Given the description of an element on the screen output the (x, y) to click on. 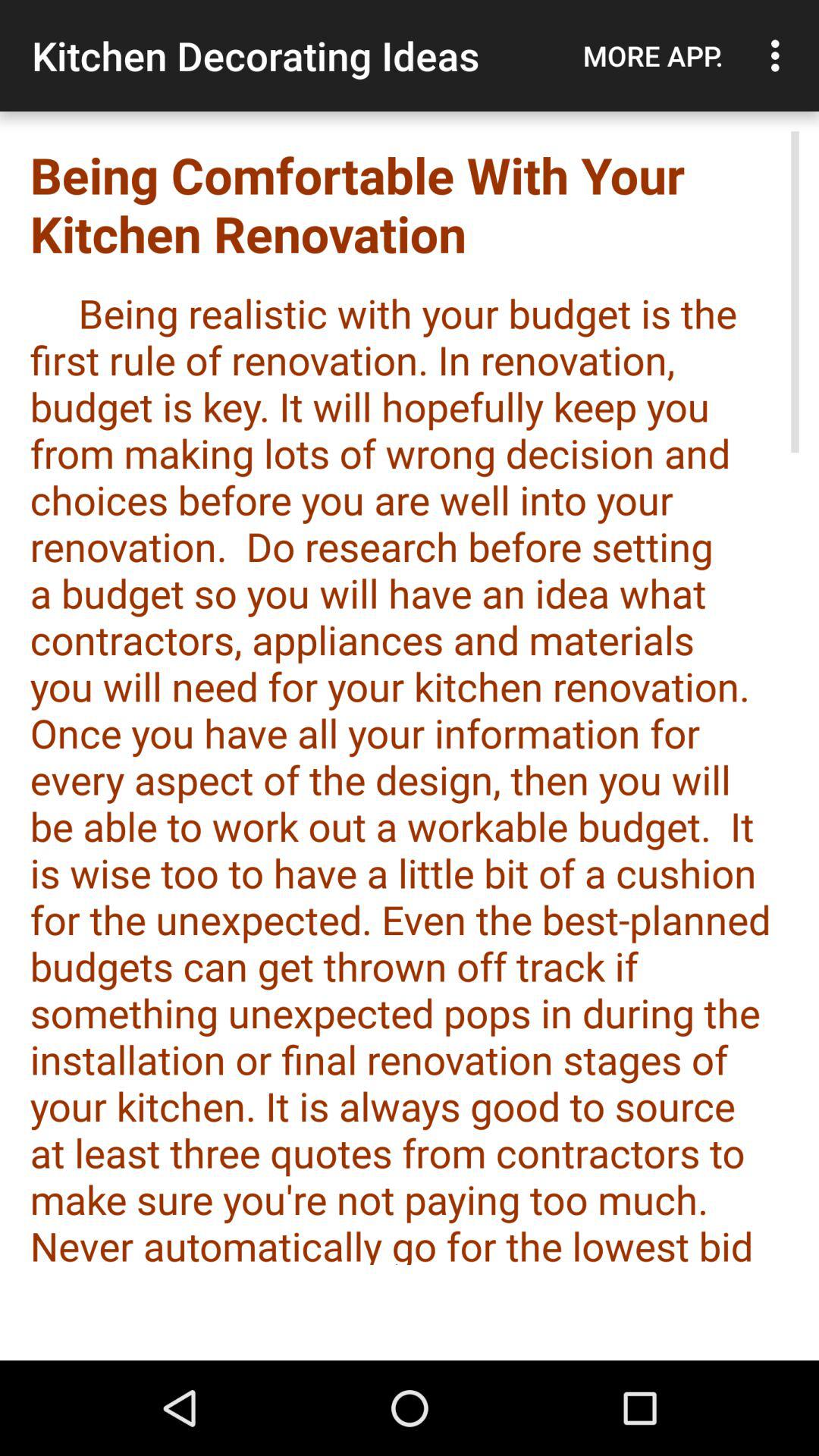
turn off icon to the right of the kitchen decorating ideas app (653, 55)
